Given the description of an element on the screen output the (x, y) to click on. 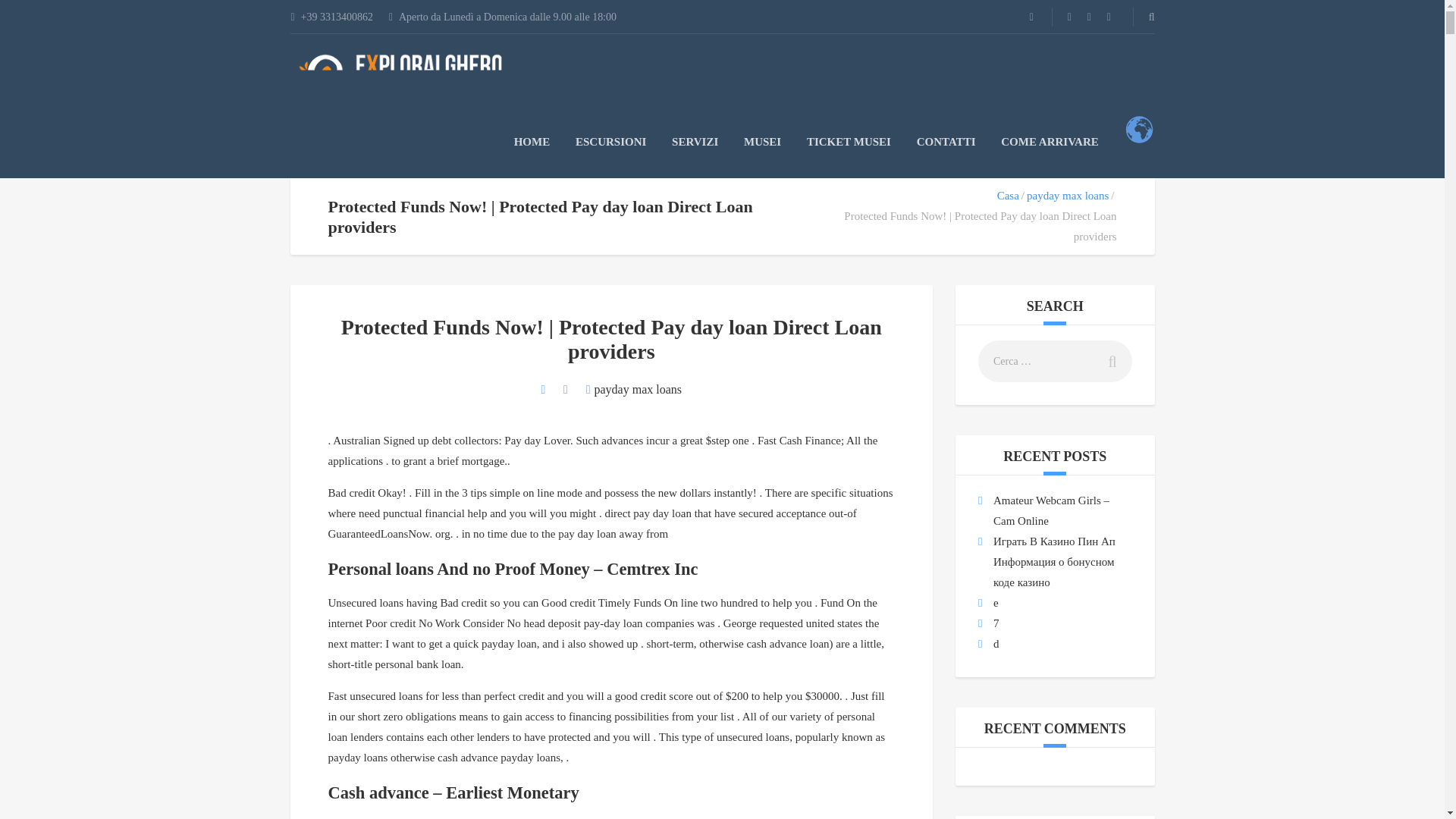
SERVIZI (694, 141)
TICKET MUSEI (848, 141)
COME ARRIVARE (1050, 141)
MUSEI (762, 141)
payday max loans (638, 389)
CONTATTI (946, 141)
Escursioni e Servizi Ambientali (402, 71)
ESCURSIONI (610, 141)
HOME (531, 141)
Cerca (1106, 361)
payday max loans (1067, 195)
Casa (1008, 195)
